Given the description of an element on the screen output the (x, y) to click on. 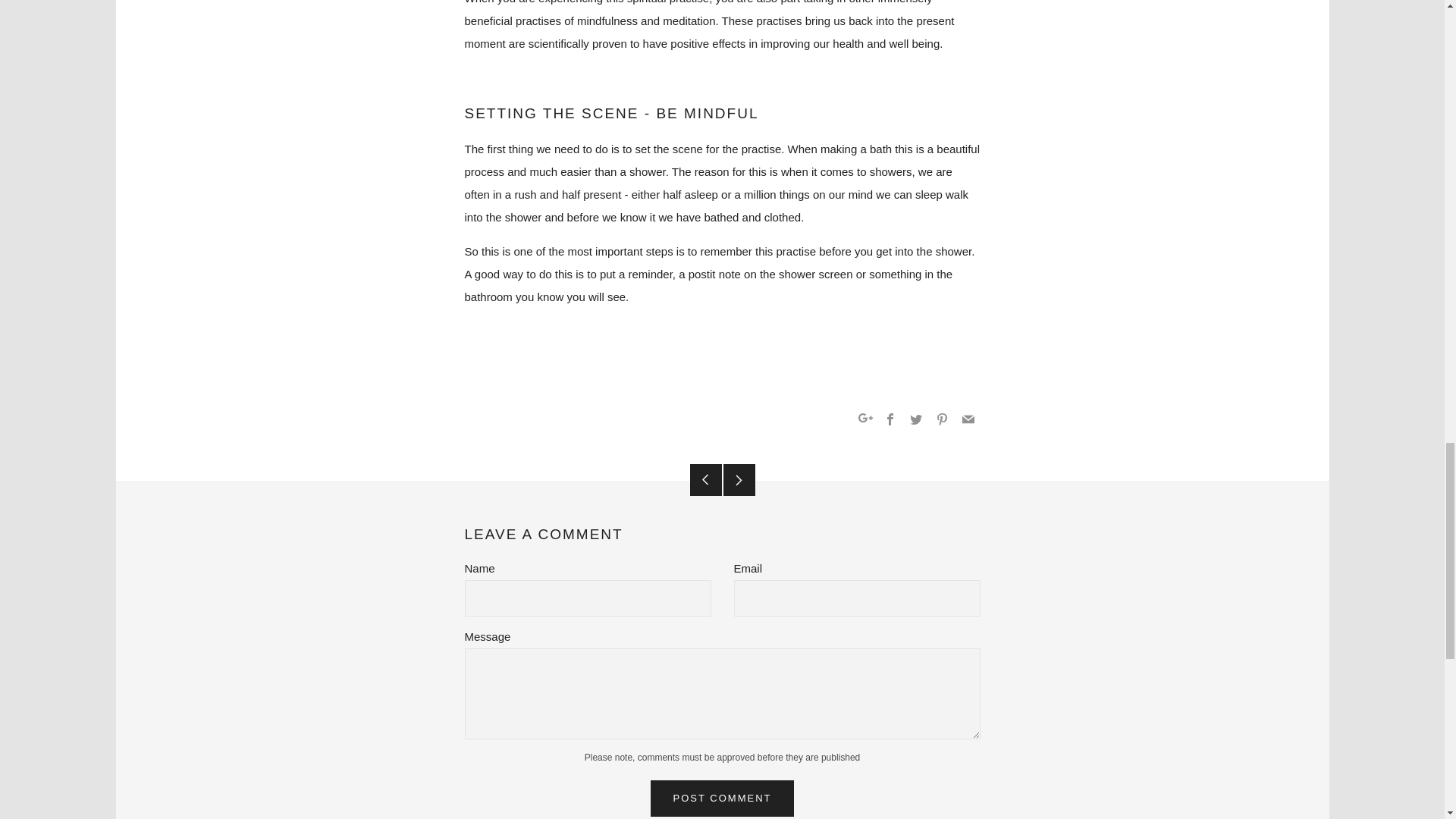
Facebook (889, 419)
Twitter (915, 419)
Post comment (722, 798)
Email (967, 419)
Post comment (722, 798)
Pinterest (941, 419)
Newer Post (739, 480)
Older Post (706, 480)
